Given the description of an element on the screen output the (x, y) to click on. 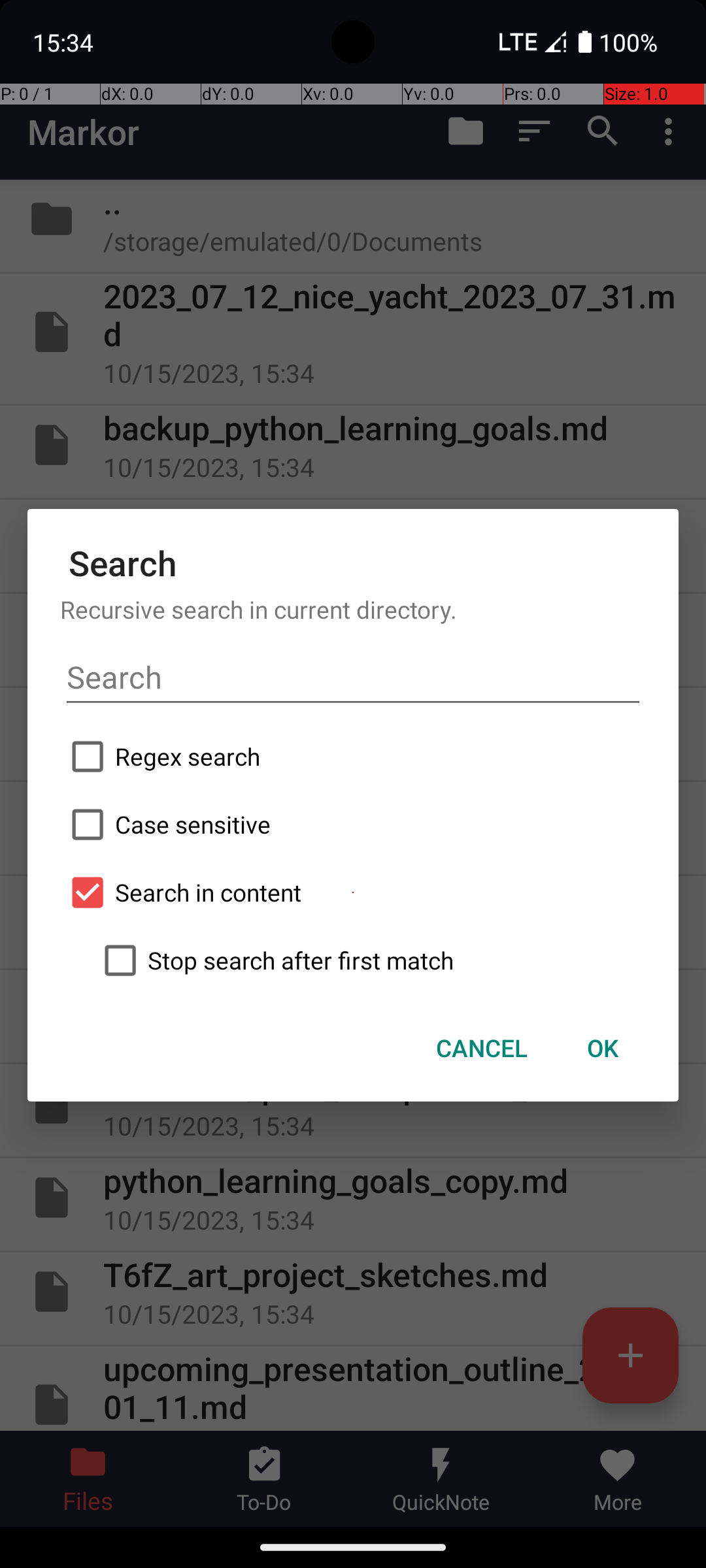
Stop search after first match Element type: android.widget.CheckBox (368, 959)
